Given the description of an element on the screen output the (x, y) to click on. 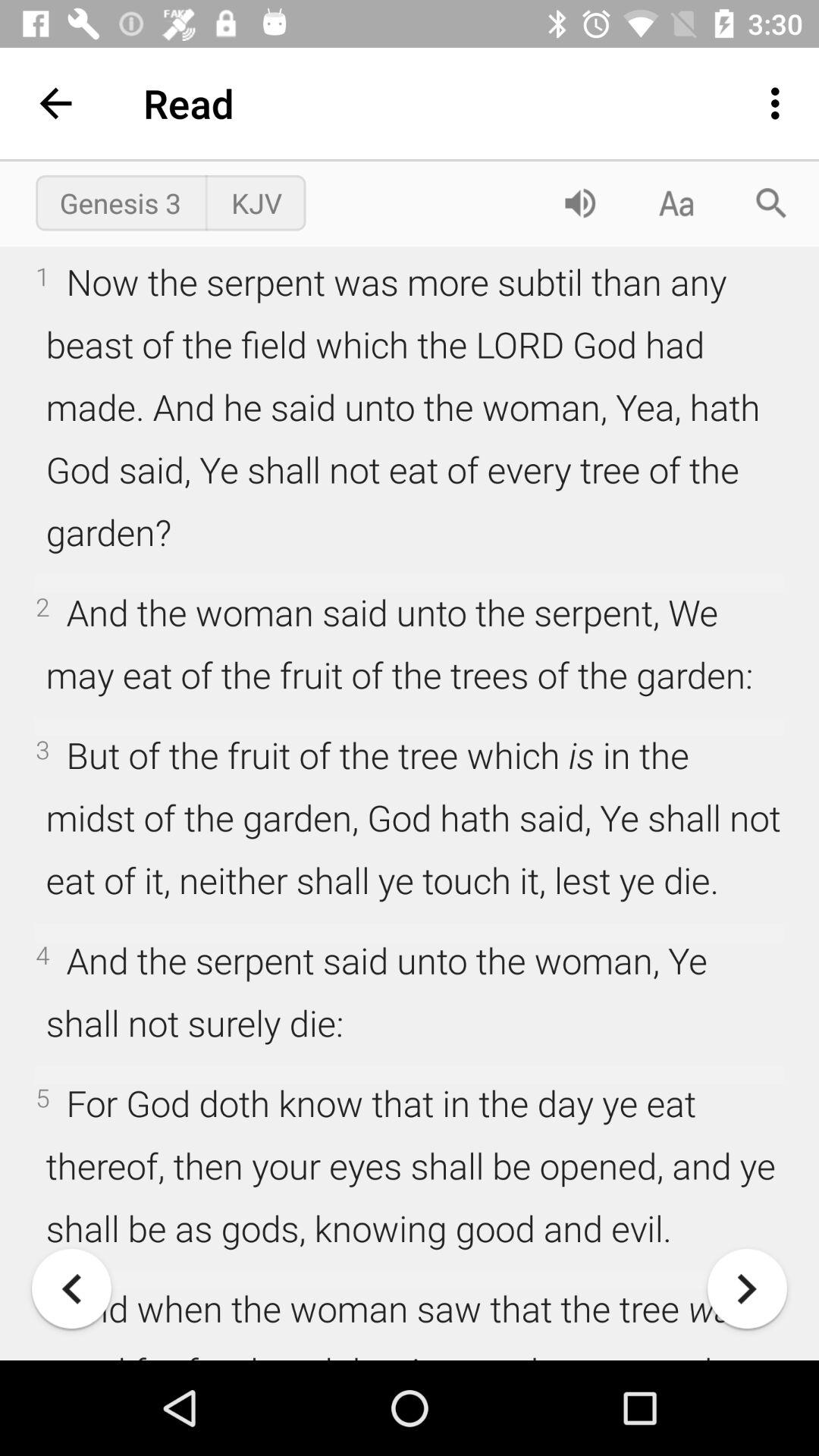
change font properties (675, 202)
